Given the description of an element on the screen output the (x, y) to click on. 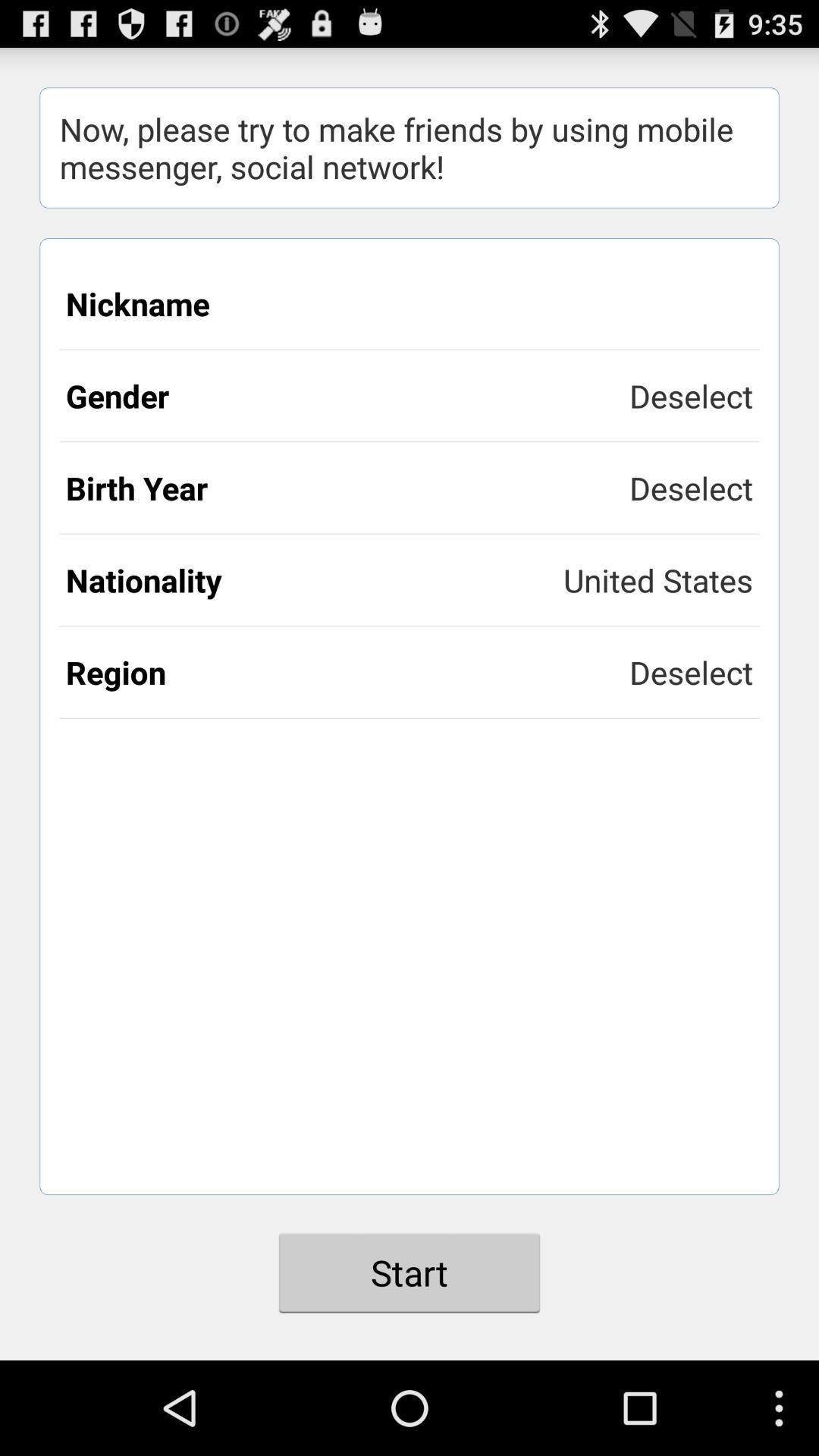
open the app below the nationality item (347, 671)
